Given the description of an element on the screen output the (x, y) to click on. 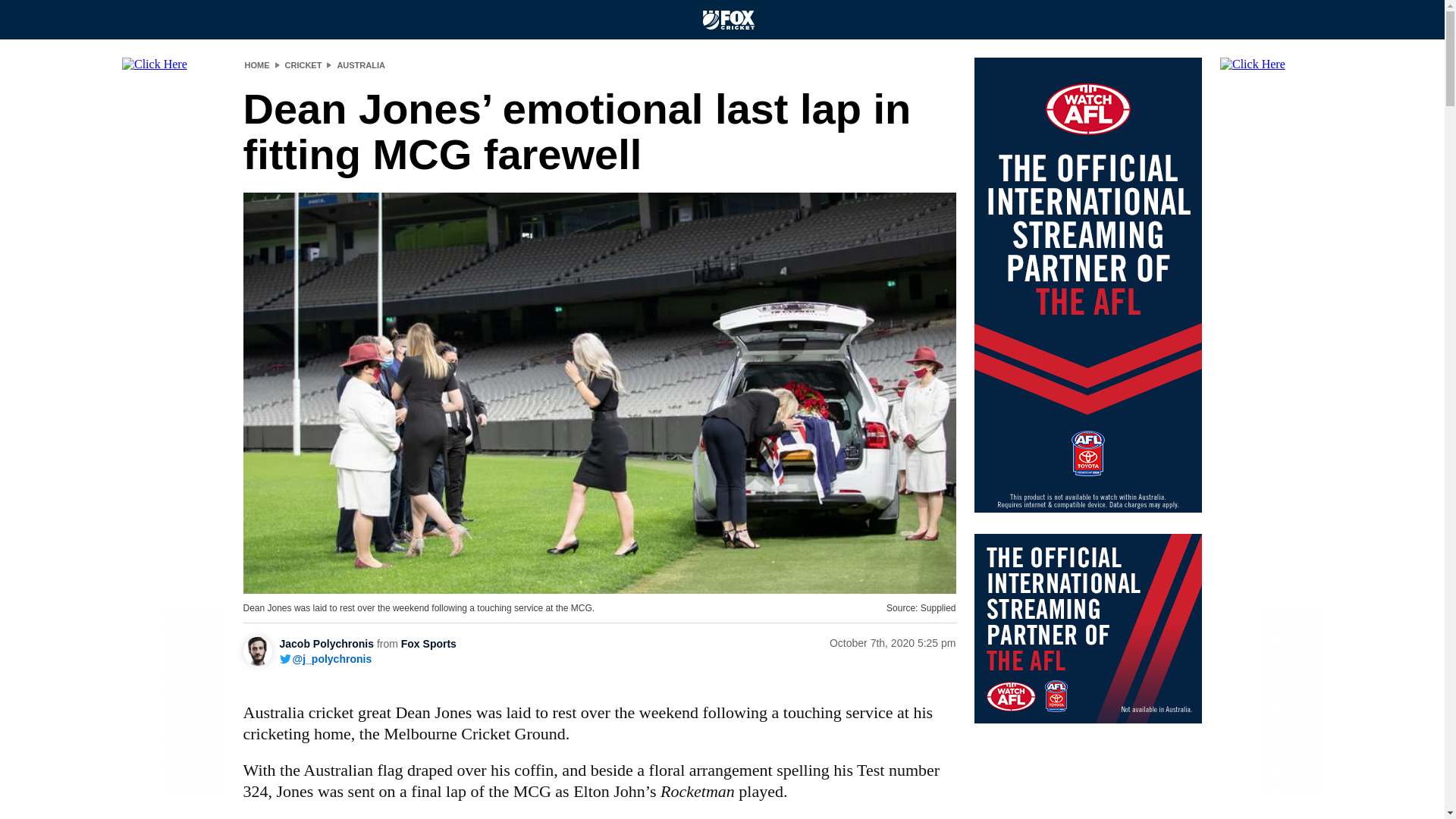
AUSTRALIA (360, 64)
HOME (256, 64)
CRICKET (303, 64)
3rd party ad content (1087, 628)
